Given the description of an element on the screen output the (x, y) to click on. 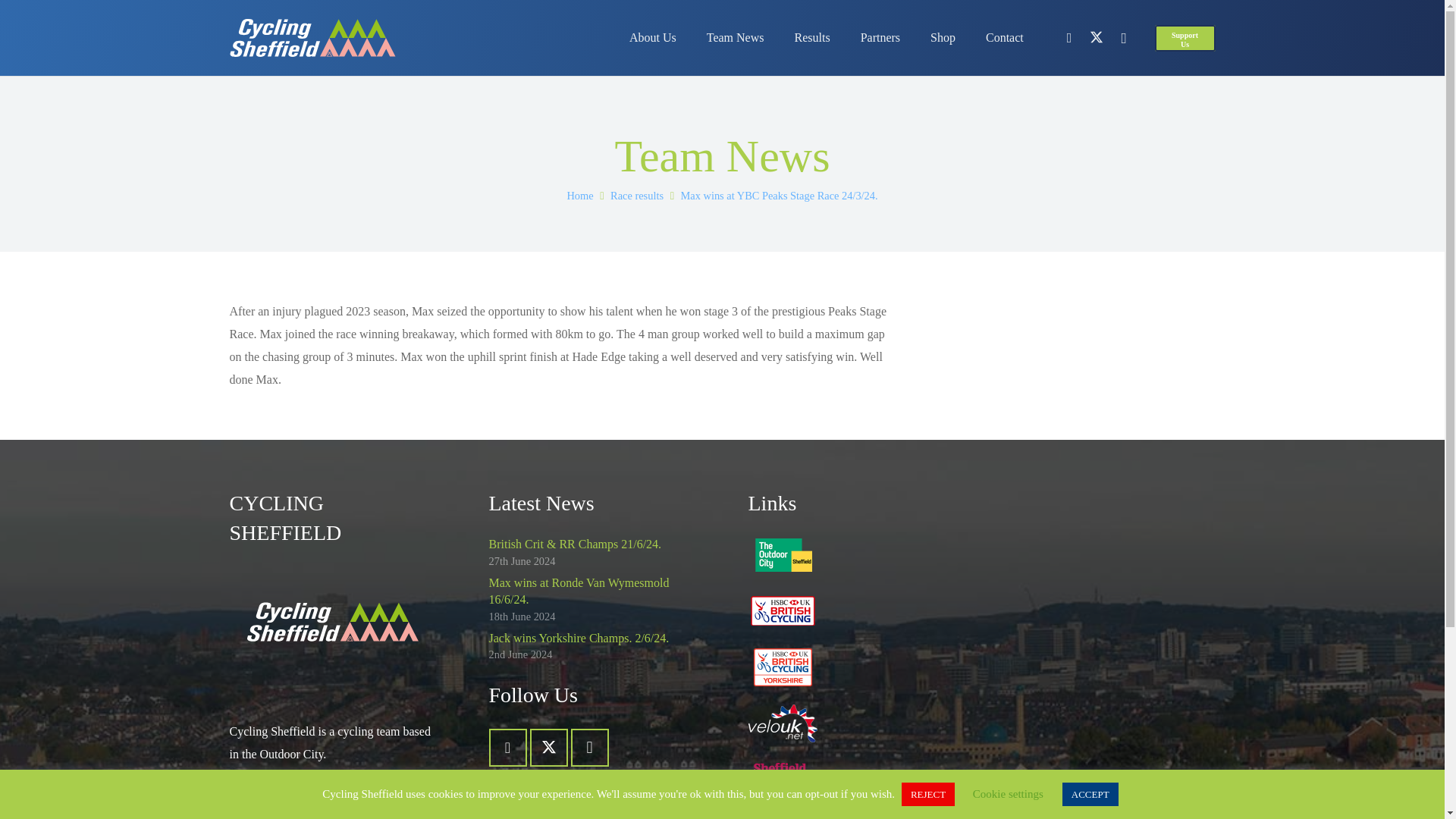
Twitter (1096, 37)
Results (811, 38)
Support Us (1184, 37)
Facebook (1069, 37)
Shop (943, 38)
Home (579, 195)
Instagram (1123, 37)
Instagram (589, 747)
Race results (636, 195)
Contact (1005, 38)
Partners (880, 38)
Twitter (548, 747)
About Us (652, 38)
Team News (734, 38)
Facebook (506, 747)
